Given the description of an element on the screen output the (x, y) to click on. 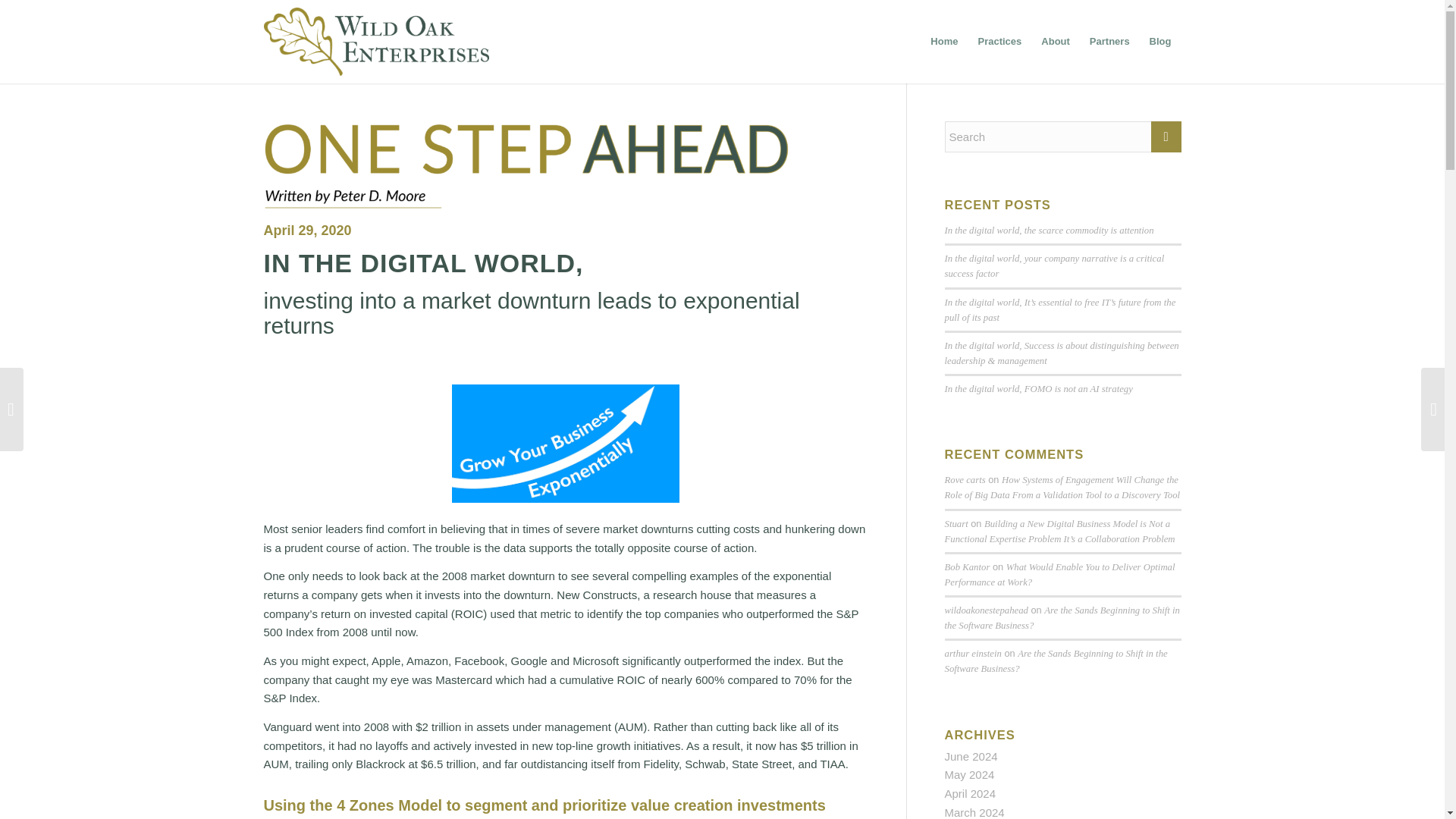
Bob Kantor (967, 566)
wildoakonestepahead (985, 610)
Are the Sands Beginning to Shift in the Software Business? (1055, 661)
Rove carts (964, 480)
Stuart (956, 523)
In the digital world, the scarce commodity is attention (1049, 230)
About (1055, 41)
Partners (1110, 41)
Are the Sands Beginning to Shift in the Software Business? (1061, 617)
March 2024 (974, 812)
June 2024 (970, 756)
May 2024 (969, 774)
Practices (999, 41)
